Given the description of an element on the screen output the (x, y) to click on. 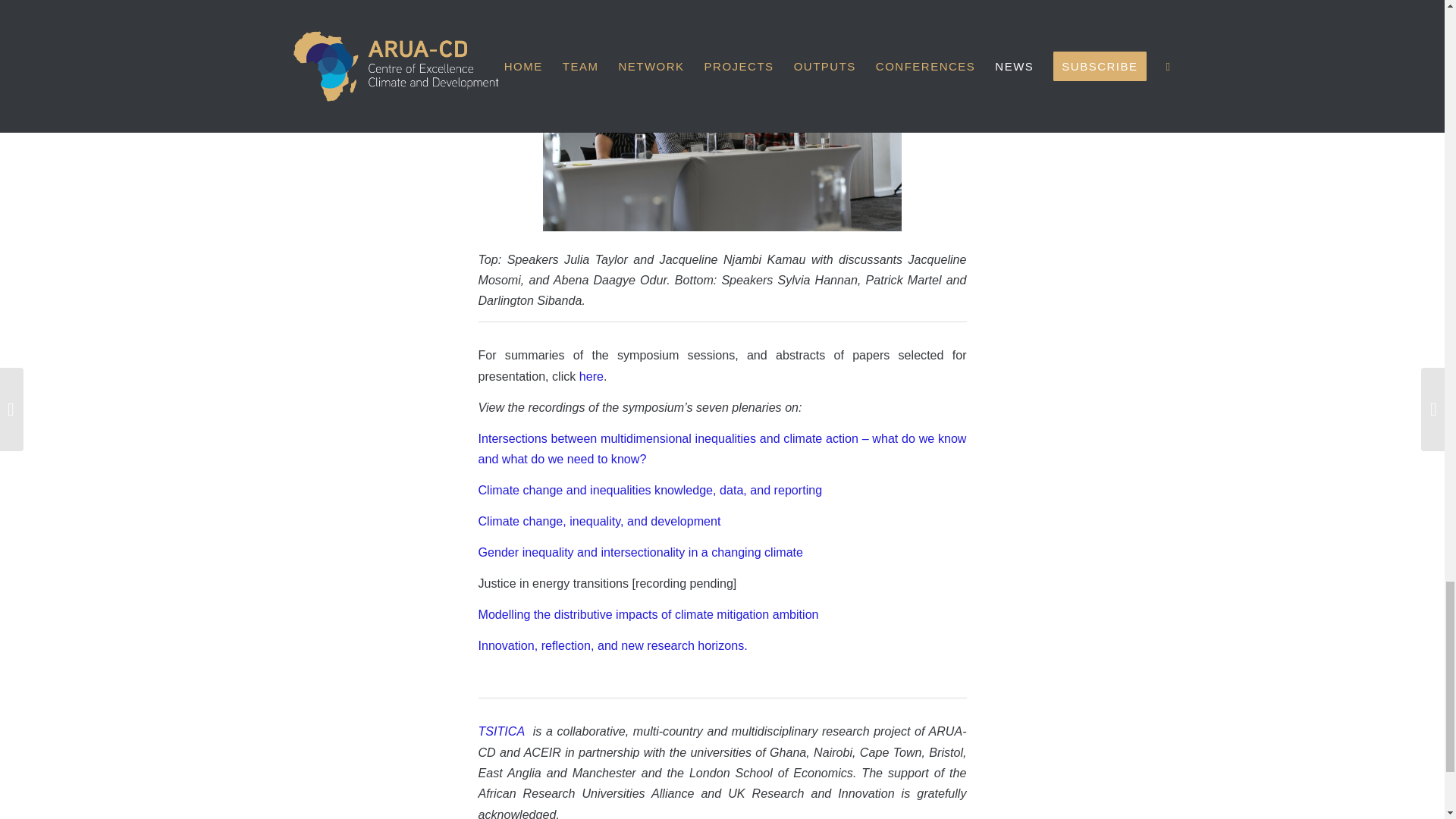
Climate change, inequality, and development (598, 520)
TSITICA  (502, 730)
here (591, 376)
Innovation, reflection, and new research horizons. (611, 644)
